Given the description of an element on the screen output the (x, y) to click on. 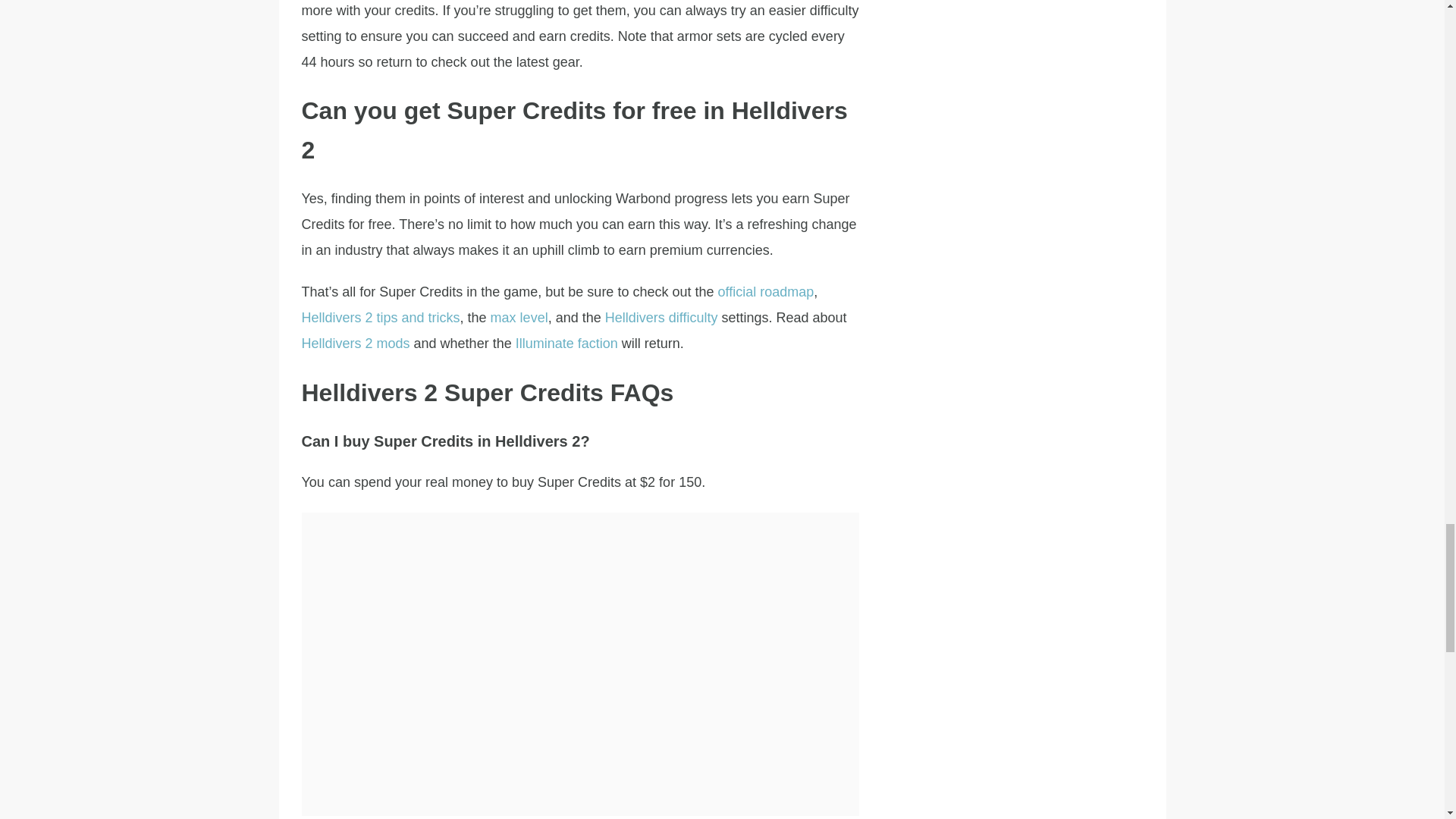
Helldivers difficulty (661, 317)
Helldivers 2 tips and tricks (380, 317)
Illuminate faction (566, 343)
official roadmap (765, 291)
Helldivers 2 mods (355, 343)
max level (519, 317)
